Given the description of an element on the screen output the (x, y) to click on. 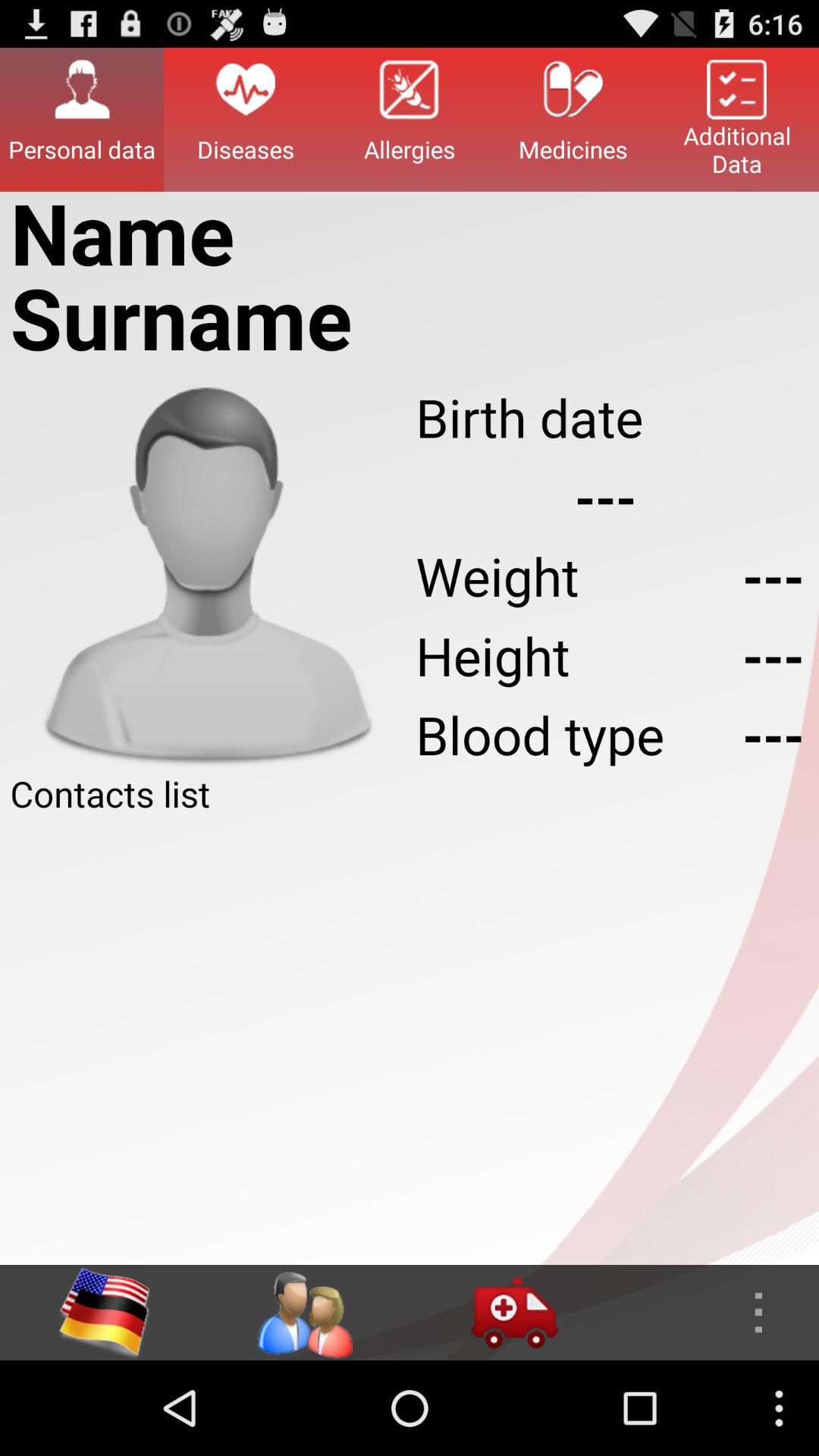
membership icone (304, 1312)
